Given the description of an element on the screen output the (x, y) to click on. 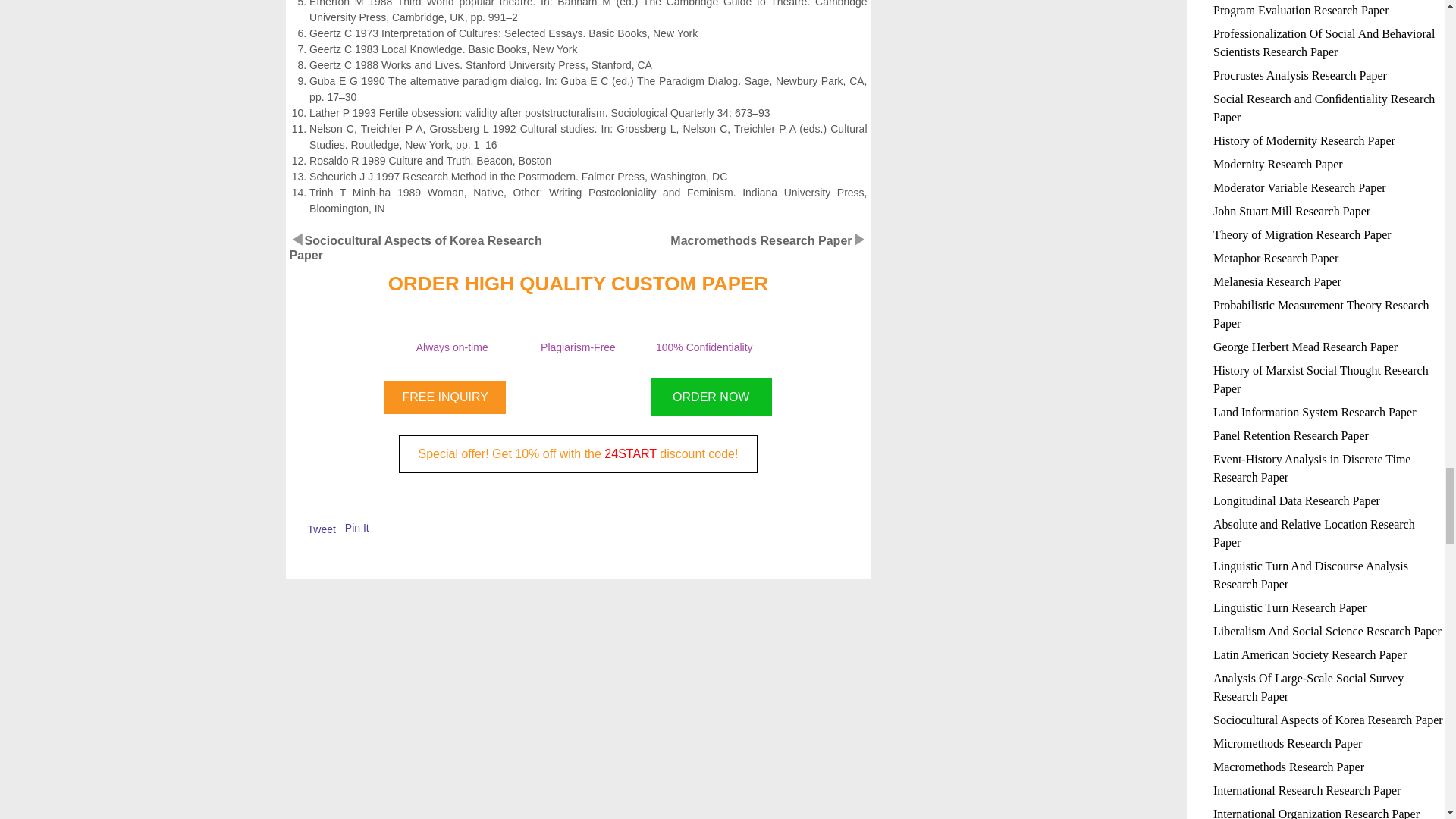
Macromethods Research Paper (760, 240)
Sociocultural Aspects of Korea Research Paper (415, 247)
FREE INQUIRY (444, 397)
Tweet (321, 529)
Macromethods Research Paper (760, 240)
Sociocultural Aspects of Korea Research Paper (415, 247)
Pin It (357, 527)
ORDER NOW (710, 397)
